Given the description of an element on the screen output the (x, y) to click on. 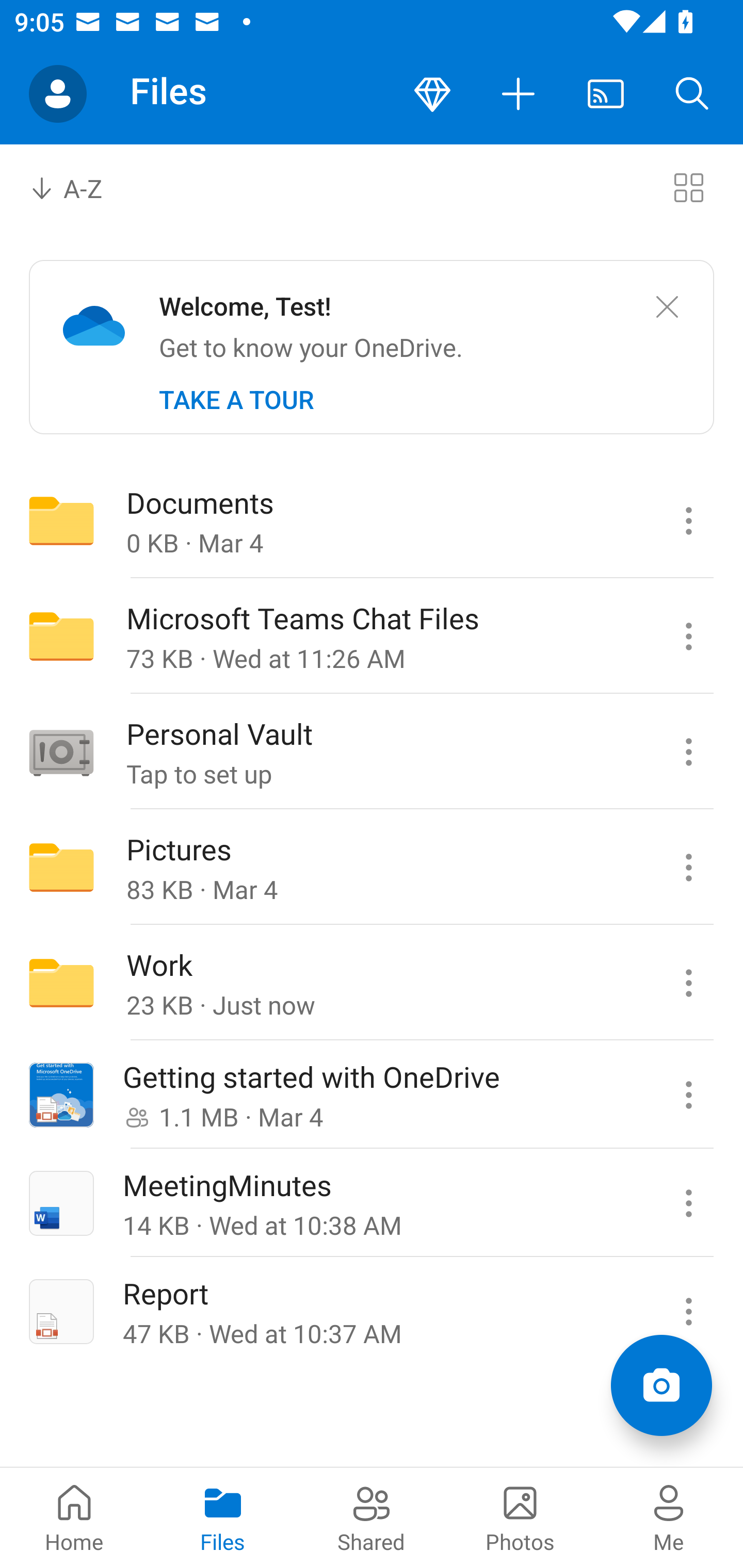
Account switcher (57, 93)
Cast. Disconnected (605, 93)
Premium button (432, 93)
More actions button (518, 93)
Search button (692, 93)
A-Z Sort by combo box, sort by name, A to Z (80, 187)
Switch to tiles view (688, 187)
Close (667, 307)
TAKE A TOUR (236, 399)
Folder Documents 0 KB · Mar 4 Documents commands (371, 520)
Documents commands (688, 520)
Microsoft Teams Chat Files commands (688, 636)
Personal Vault commands (688, 751)
Folder Pictures 83 KB · Mar 4 Pictures commands (371, 867)
Pictures commands (688, 867)
Folder Work 23 KB · Just now Work commands (371, 983)
Work commands (688, 983)
Getting started with OneDrive commands (688, 1095)
MeetingMinutes commands (688, 1203)
Report commands (688, 1311)
Add items Scan (660, 1385)
Home pivot Home (74, 1517)
Shared pivot Shared (371, 1517)
Photos pivot Photos (519, 1517)
Me pivot Me (668, 1517)
